Given the description of an element on the screen output the (x, y) to click on. 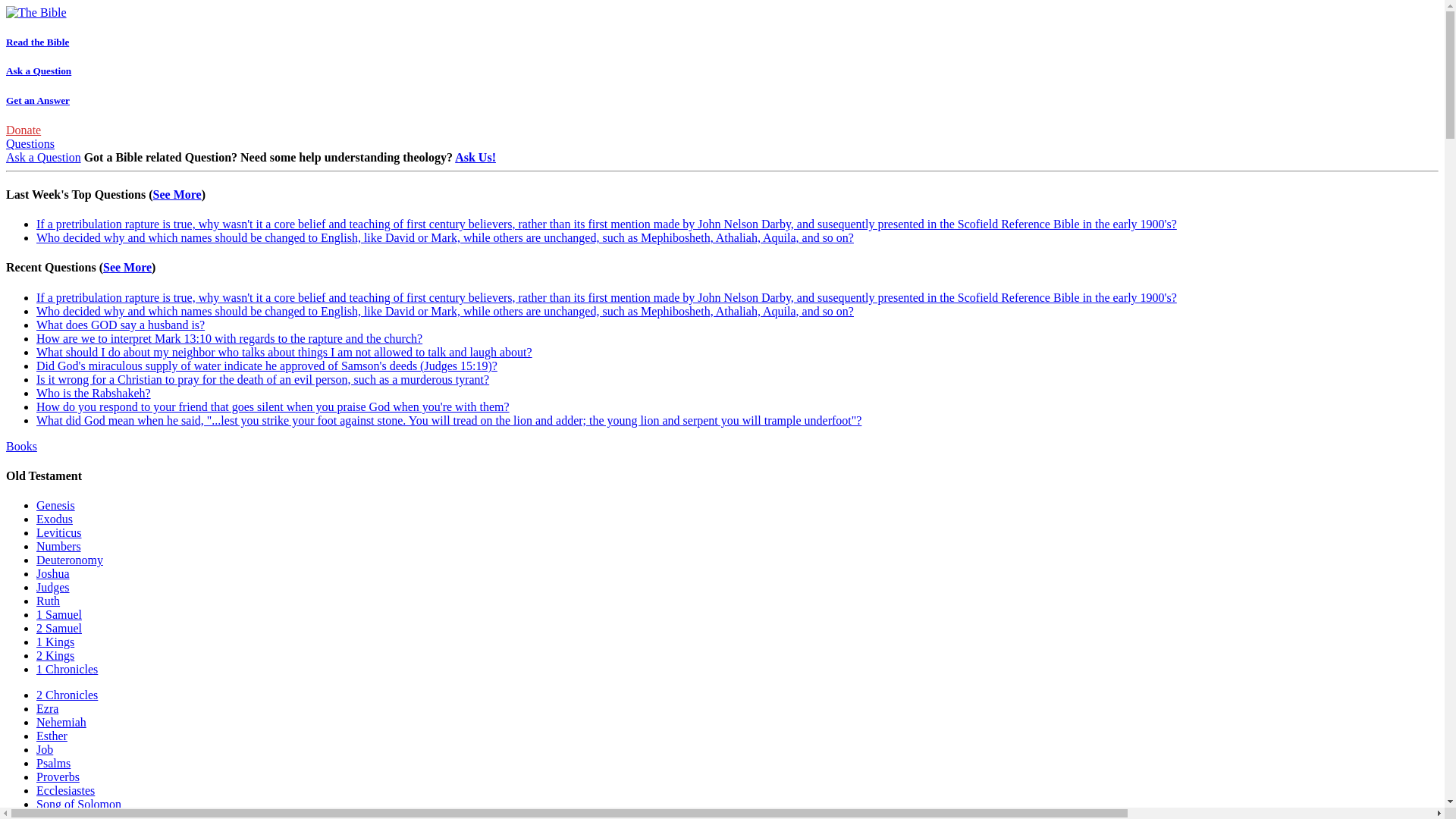
2 Kings (55, 655)
Questions (30, 143)
Ask Us! (475, 156)
Genesis (55, 504)
Esther (51, 735)
Exodus (54, 518)
Judges (52, 586)
2 Chronicles (66, 694)
Numbers (58, 545)
Donate (22, 129)
Joshua (52, 573)
Deuteronomy (69, 559)
